Given the description of an element on the screen output the (x, y) to click on. 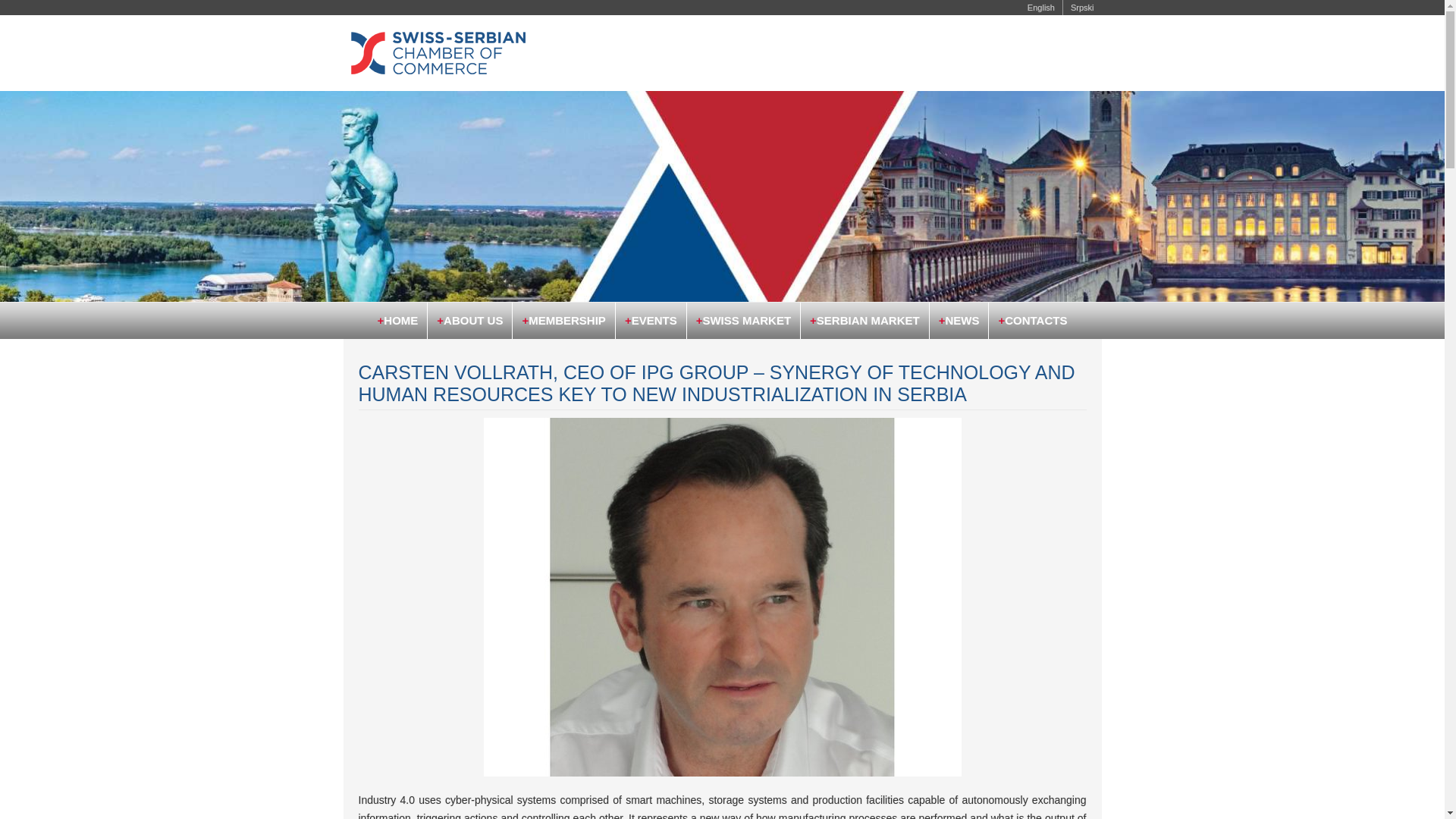
ABOUT US (469, 320)
SERBIAN MARKET (863, 320)
EVENTS (649, 320)
SWISS MARKET (742, 320)
Swiss Market (742, 320)
HOME (398, 320)
Srpski (1082, 7)
Membership (563, 320)
CONTACTS (1031, 320)
NEWS (958, 320)
English (1040, 7)
SSCC Chamber of Commerce (398, 320)
SSCC Events (649, 320)
MEMBERSHIP (563, 320)
SSCC (464, 52)
